Given the description of an element on the screen output the (x, y) to click on. 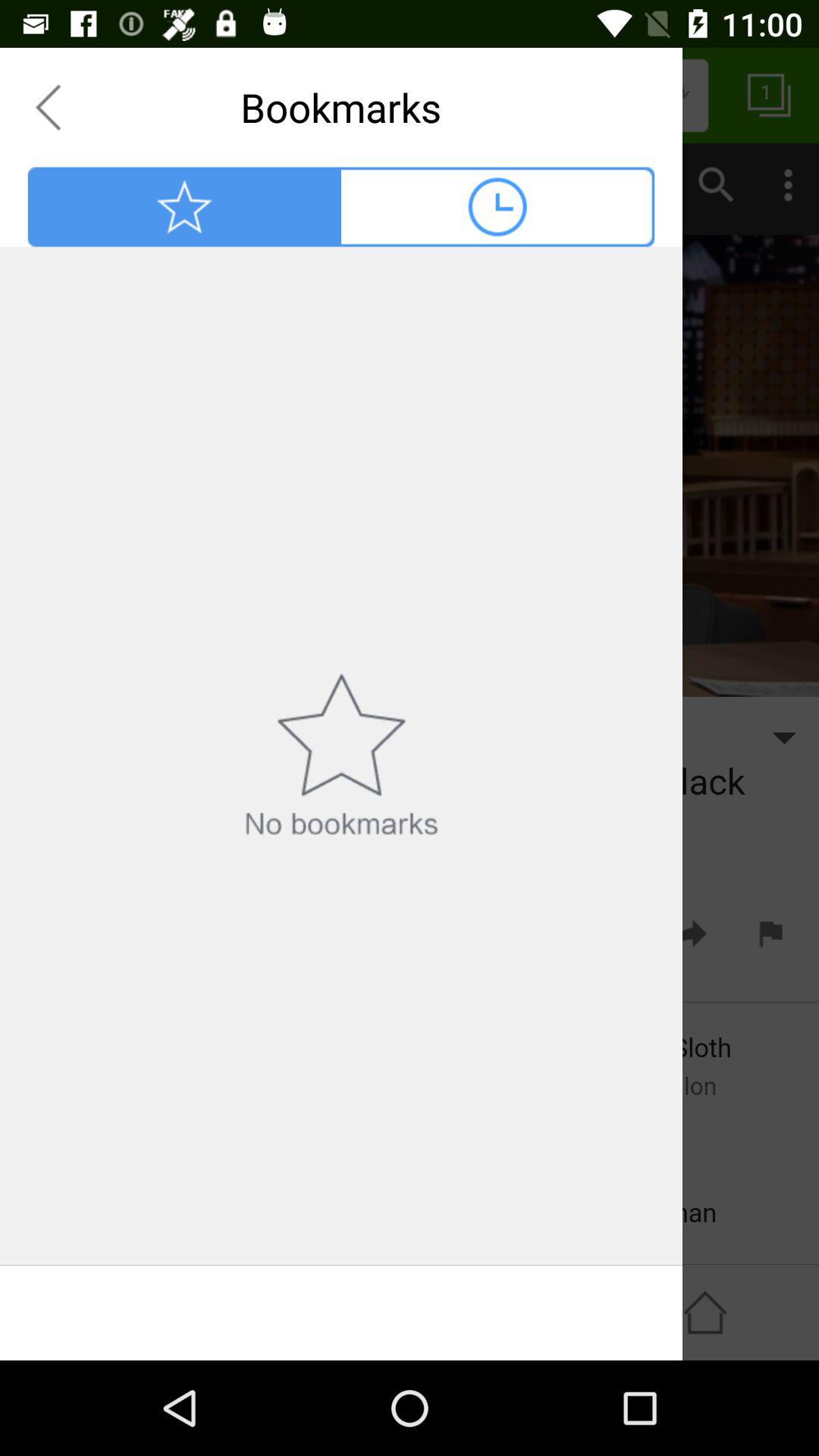
go to previous (47, 107)
